Given the description of an element on the screen output the (x, y) to click on. 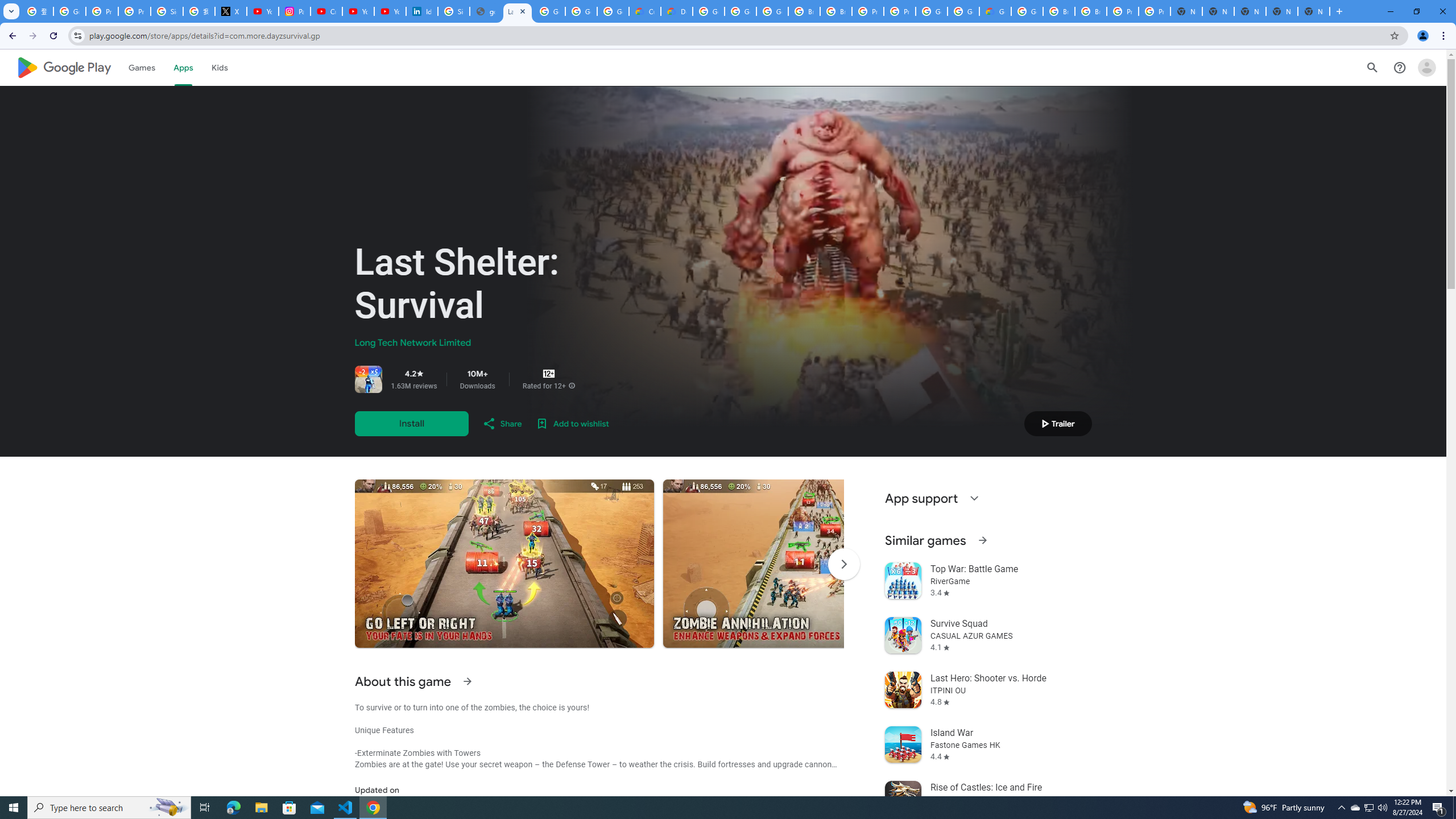
Kids (219, 67)
Sign in - Google Accounts (453, 11)
Screenshot image (812, 563)
YouTube Culture & Trends - YouTube Top 10, 2021 (389, 11)
Games (141, 67)
Share (502, 422)
Add to wishlist (571, 422)
Google Workspace - Specific Terms (613, 11)
